Given the description of an element on the screen output the (x, y) to click on. 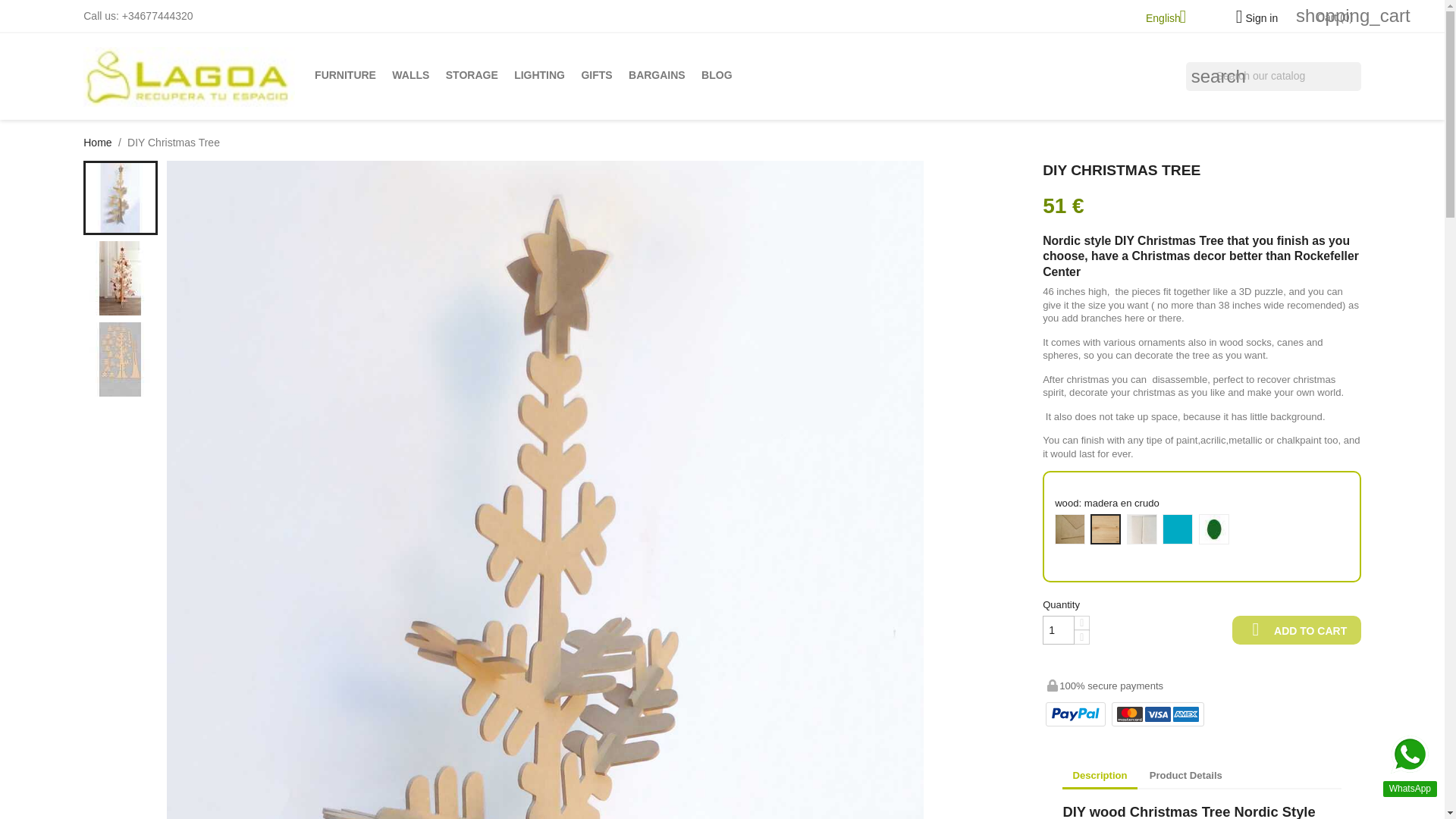
1 (1058, 630)
WALLS (410, 75)
Log in to your customer account (1251, 18)
FURNITURE (344, 75)
